Given the description of an element on the screen output the (x, y) to click on. 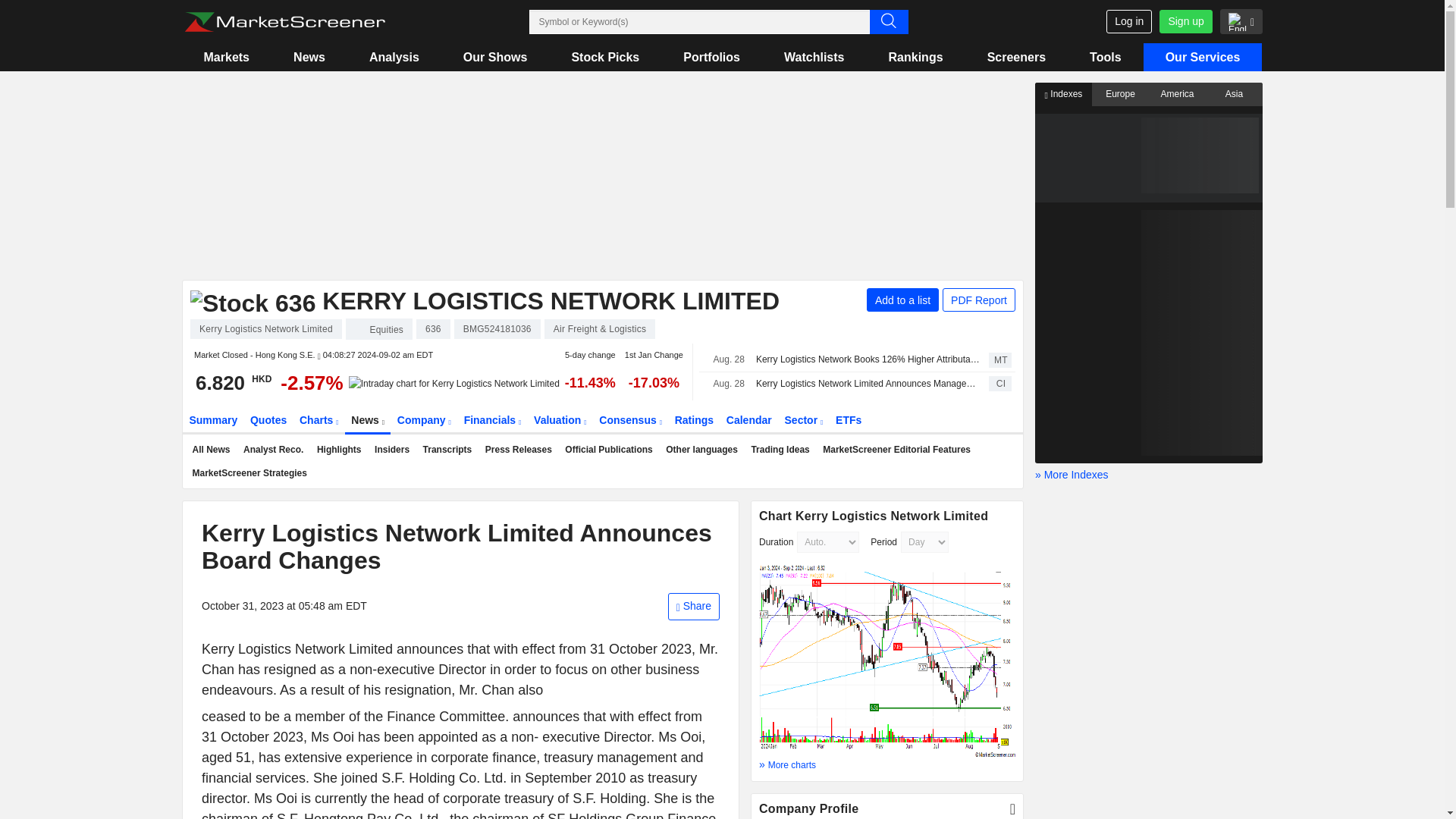
Marketscreener: stock market and financial news (284, 21)
Sign up (1184, 21)
Advanced search (888, 21)
Log in (1128, 21)
Markets (226, 57)
